Given the description of an element on the screen output the (x, y) to click on. 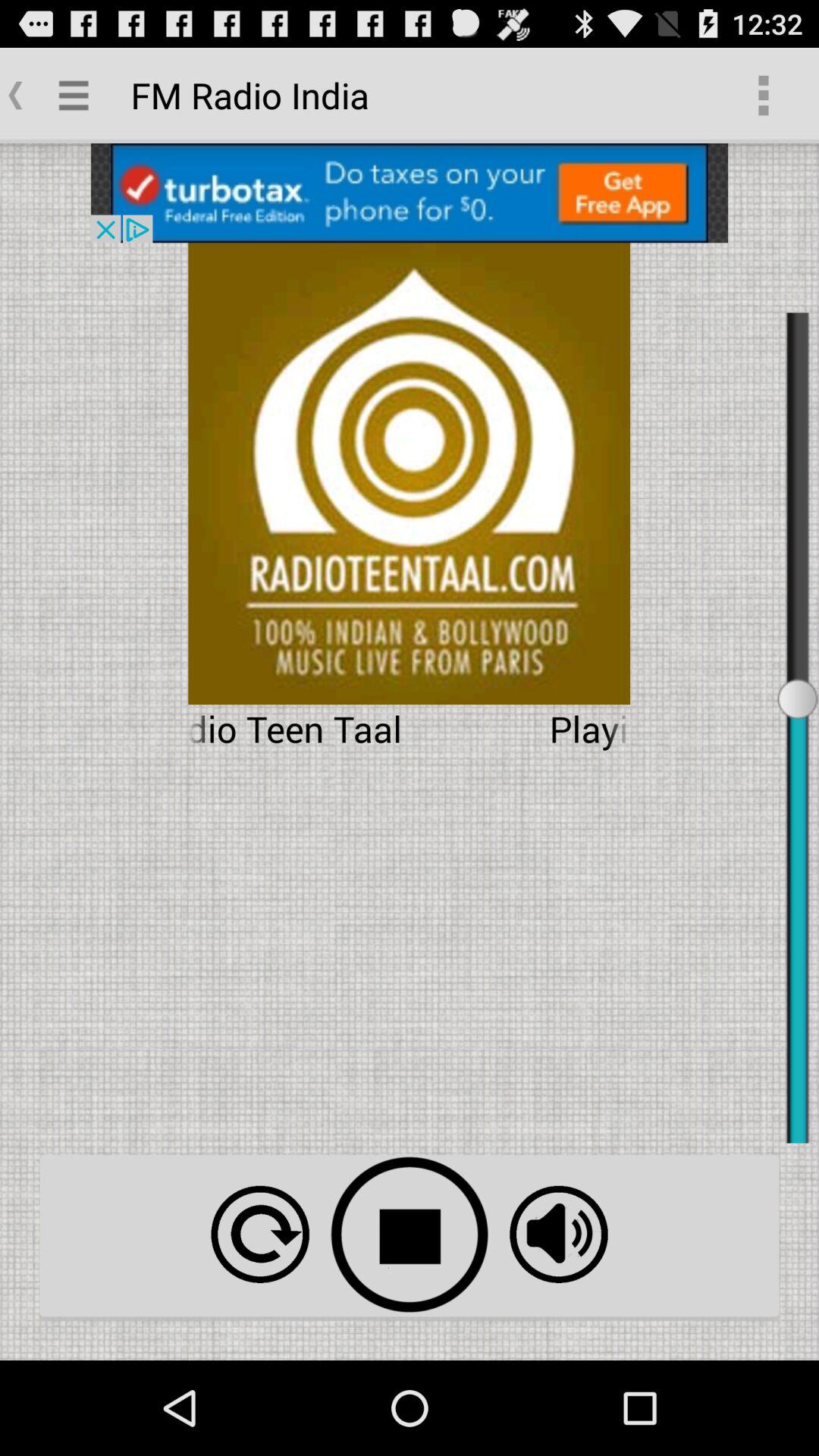
repeat (259, 1234)
